Given the description of an element on the screen output the (x, y) to click on. 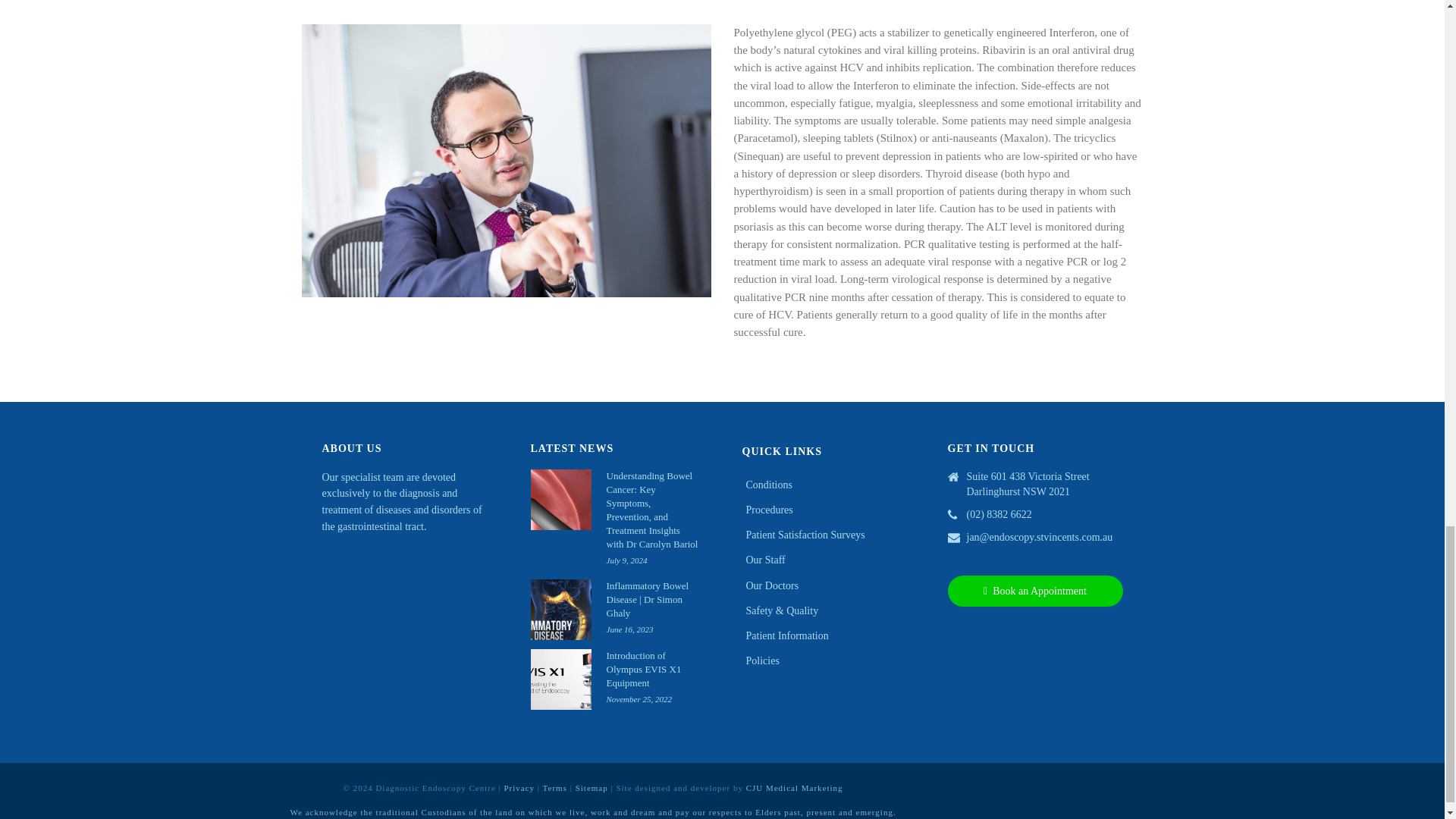
c35gerk0 (506, 160)
Introduction of Olympus EVIS X1 Equipment (561, 679)
